Given the description of an element on the screen output the (x, y) to click on. 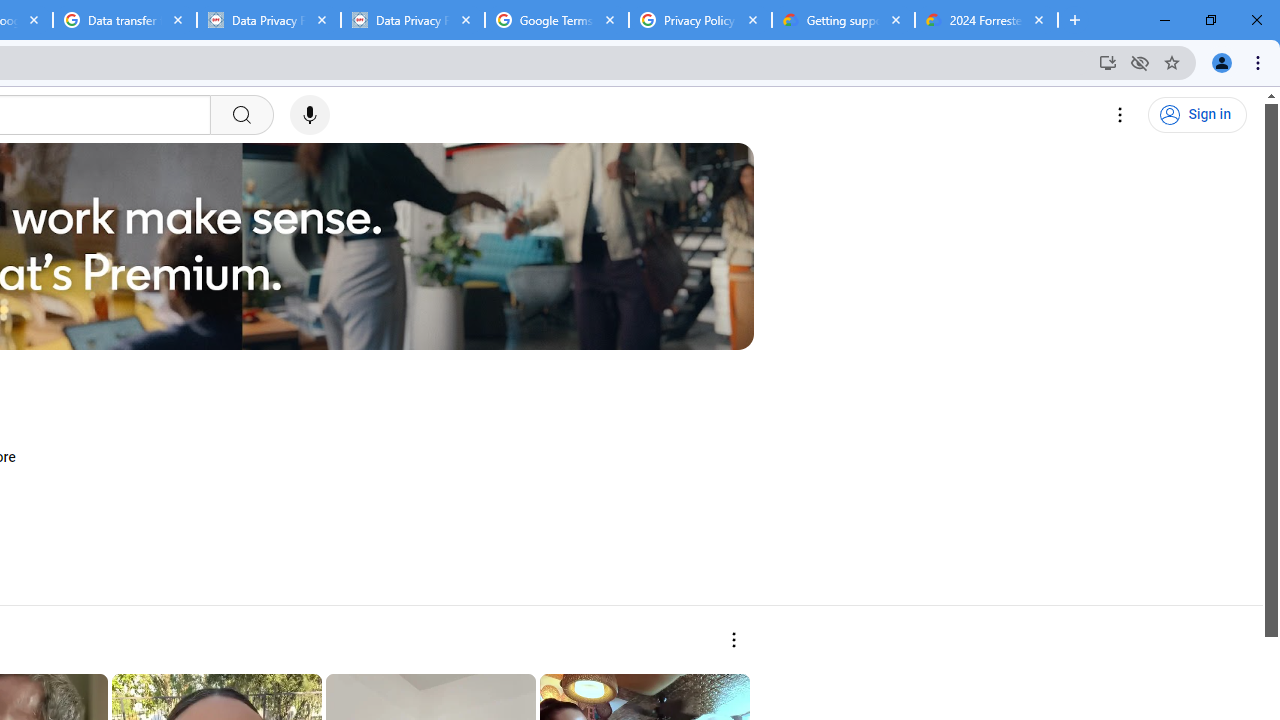
Settings (1119, 115)
Restore (1210, 20)
New Tab (1075, 20)
More actions (732, 639)
